Given the description of an element on the screen output the (x, y) to click on. 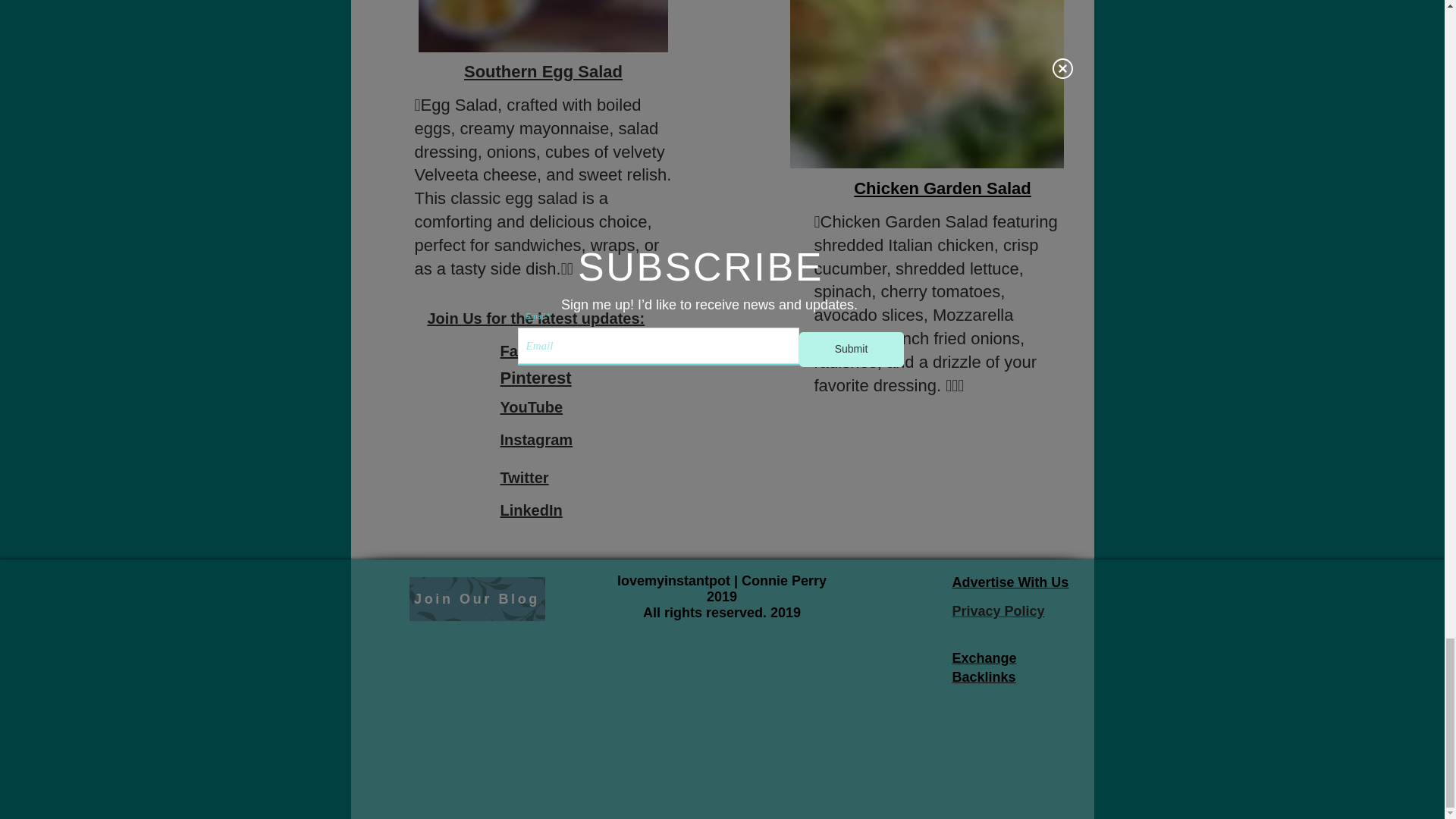
Pinterest (536, 377)
LinkedIn (531, 510)
Twitter (524, 477)
YouTube (531, 406)
Chicken Garden Salad (941, 188)
Google Search Bar (520, 743)
Facebook (535, 351)
Instagram (536, 439)
Egg Salad Recipe (543, 26)
Southern Egg Salad (543, 71)
Chicken Garden Salad (927, 84)
